Given the description of an element on the screen output the (x, y) to click on. 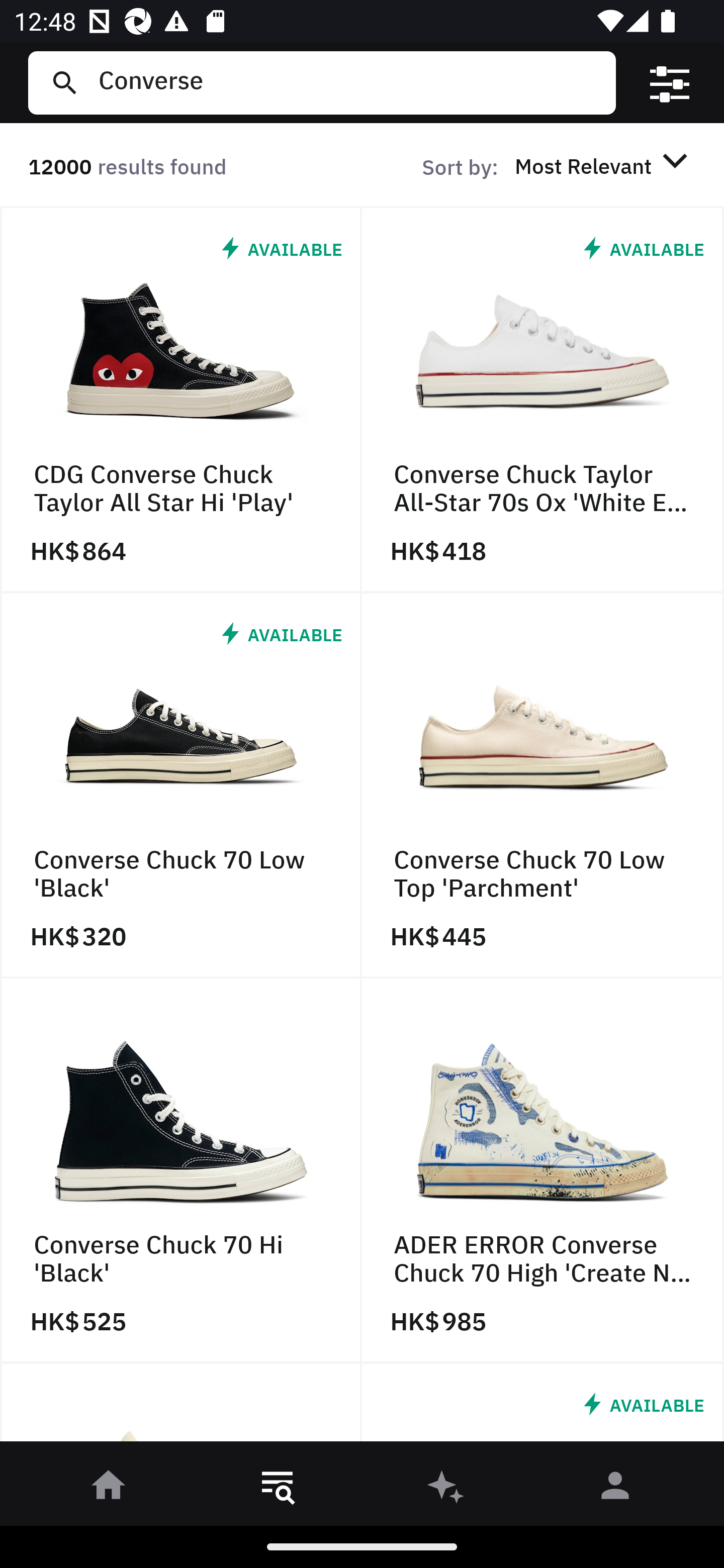
Converse (349, 82)
 (669, 82)
Most Relevant  (604, 165)
 AVAILABLE Converse Chuck 70 Low 'Black' HK$ 320 (181, 785)
Converse Chuck 70 Low Top 'Parchment' HK$ 445 (543, 785)
Converse Chuck 70 Hi 'Black' HK$ 525 (181, 1171)
󰋜 (108, 1488)
󱎸 (277, 1488)
󰫢 (446, 1488)
󰀄 (615, 1488)
